Given the description of an element on the screen output the (x, y) to click on. 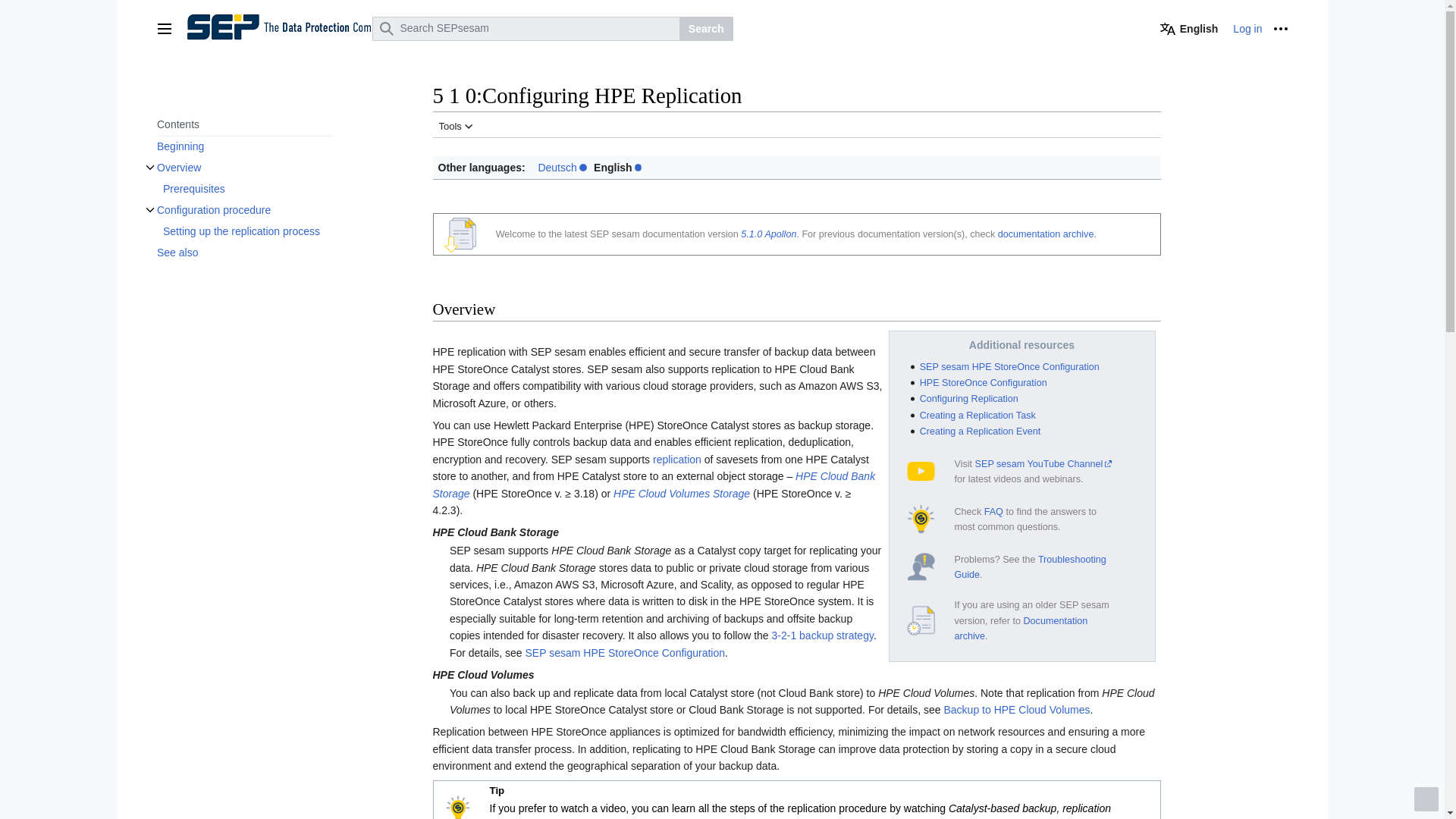
More options (1280, 28)
